Given the description of an element on the screen output the (x, y) to click on. 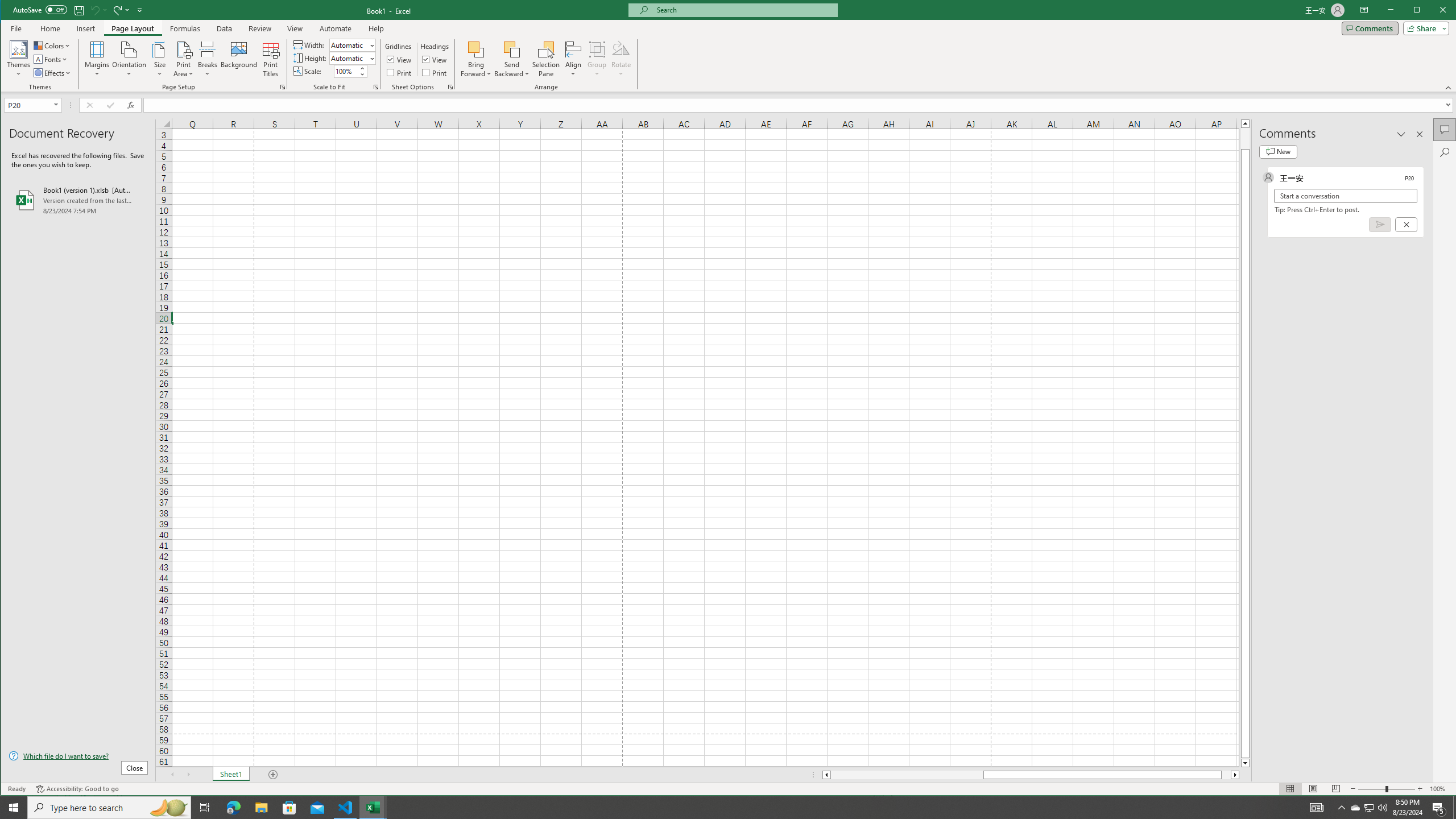
Microsoft Edge (233, 807)
User Promoted Notification Area (1368, 807)
Width (352, 44)
Print Area (183, 59)
Visual Studio Code - 1 running window (345, 807)
